Given the description of an element on the screen output the (x, y) to click on. 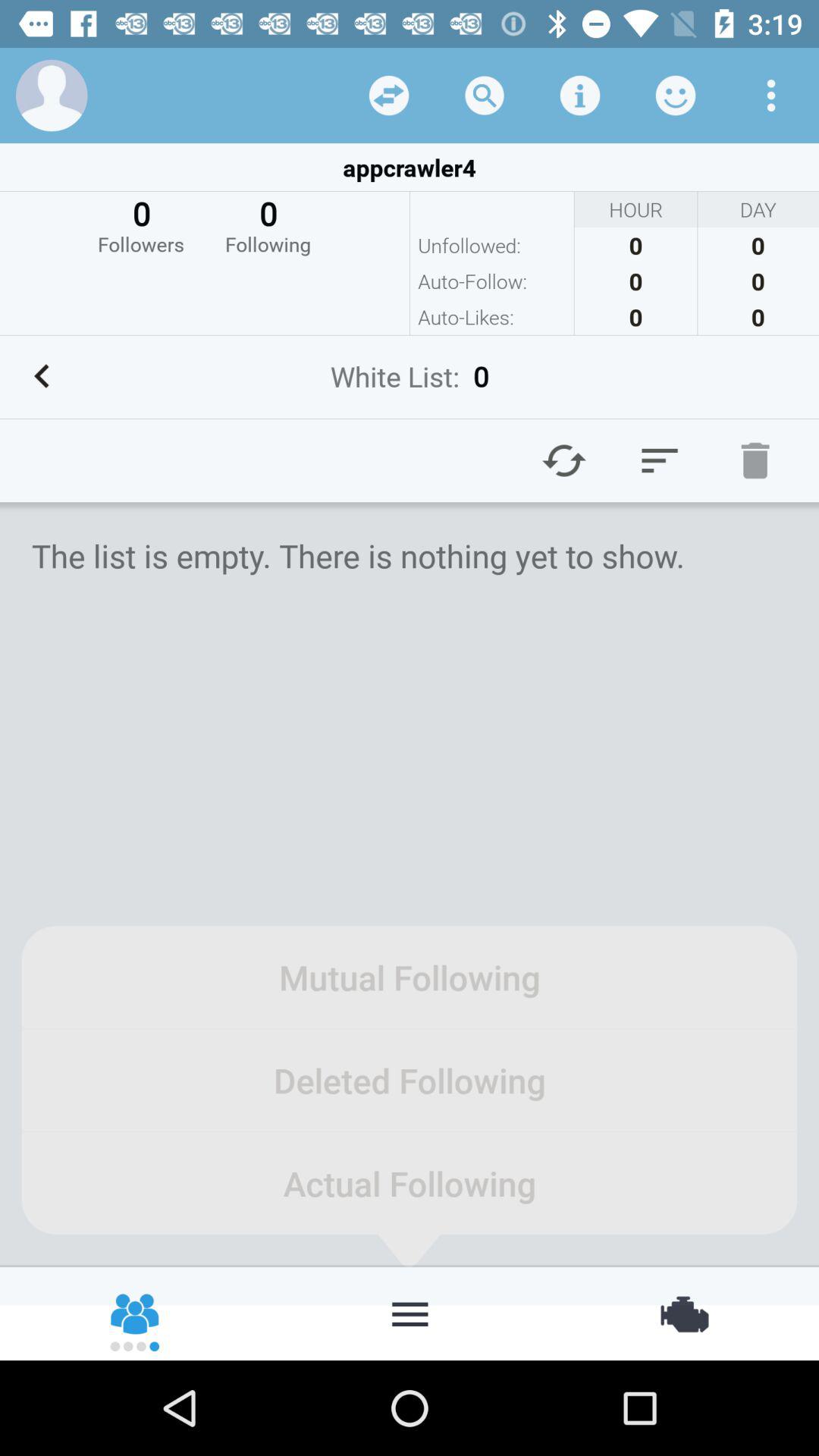
group icon (136, 1312)
